Given the description of an element on the screen output the (x, y) to click on. 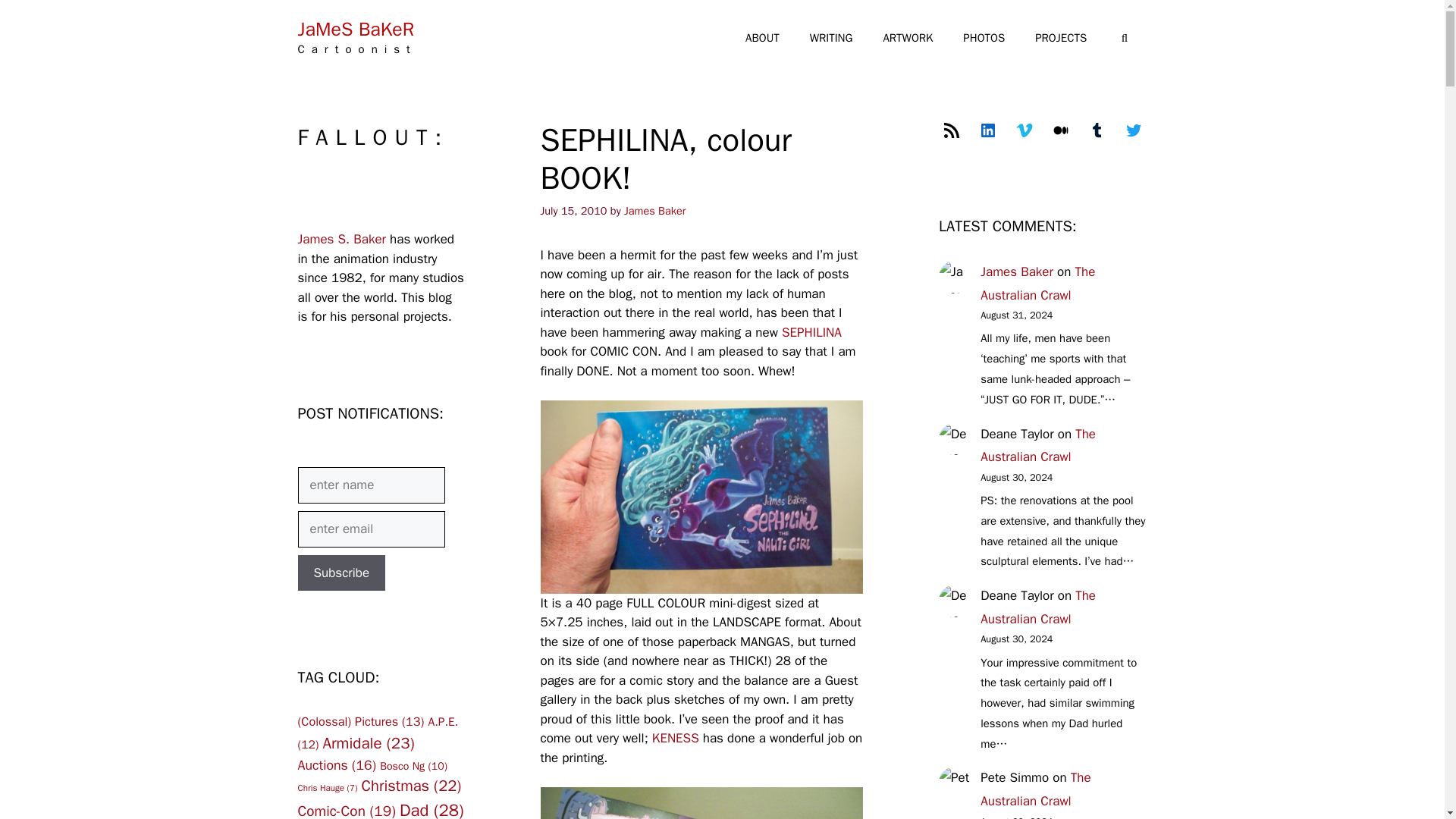
WRITING (830, 37)
KENESS (675, 738)
ABOUT (762, 37)
PHOTOS (983, 37)
ARTWORK (907, 37)
JaMeS BaKeR (355, 28)
Subscribe (341, 573)
SEPHILINA (811, 332)
View all posts by James Baker (654, 210)
James Baker (654, 210)
